Given the description of an element on the screen output the (x, y) to click on. 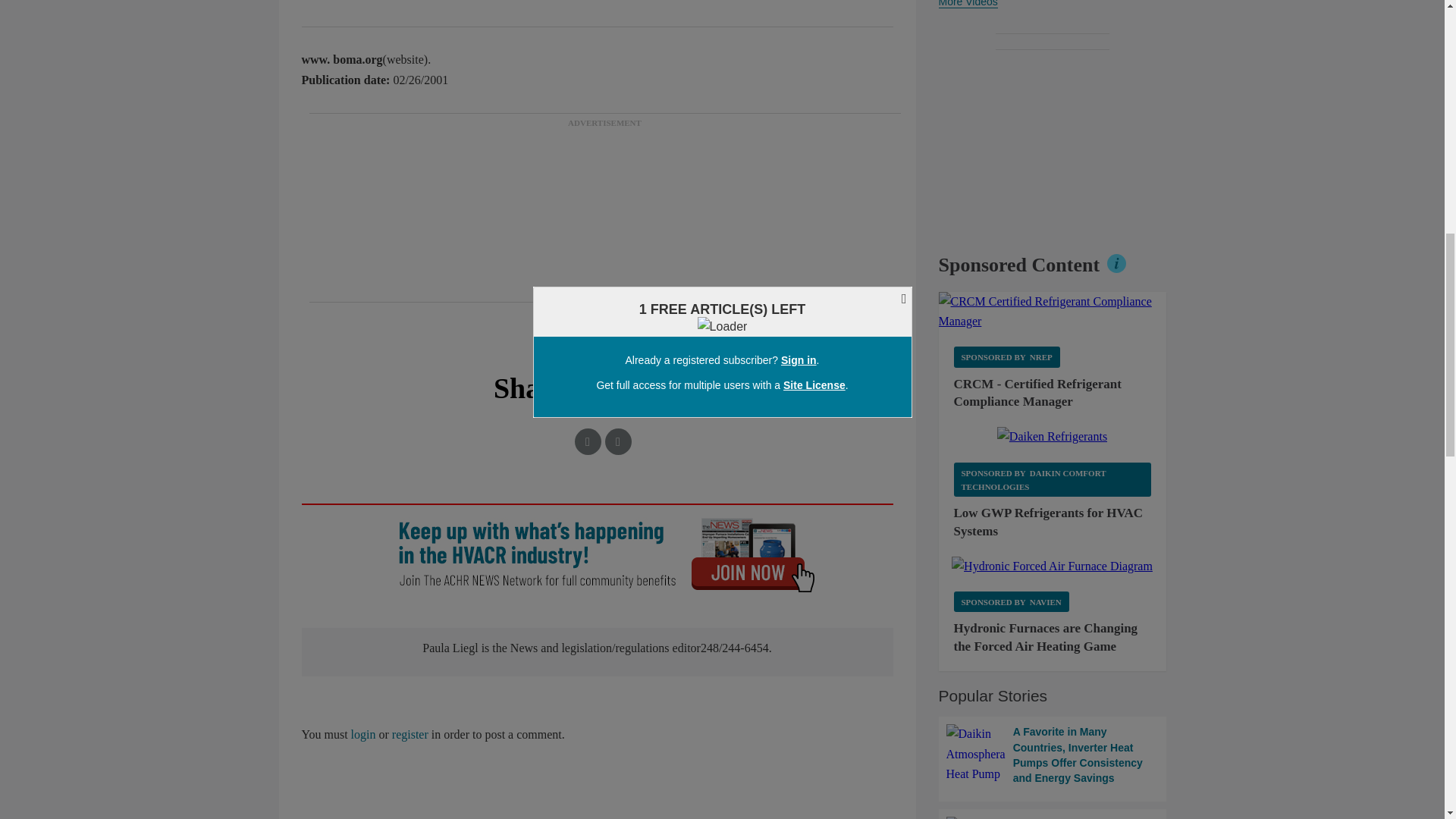
Daiken Refrigerants (1051, 436)
A2L Refrigerant Cylinders in Hot Trucks (1052, 817)
Hydronic Forced Air Furnace Diagram (1052, 566)
Sponsored by Daikin Comfort Technologies (1052, 479)
Sponsored by Navien (1010, 601)
Sponsored by NREP (1006, 356)
CRCM Certified Refrigerant Compliance Manager (1052, 311)
